Given the description of an element on the screen output the (x, y) to click on. 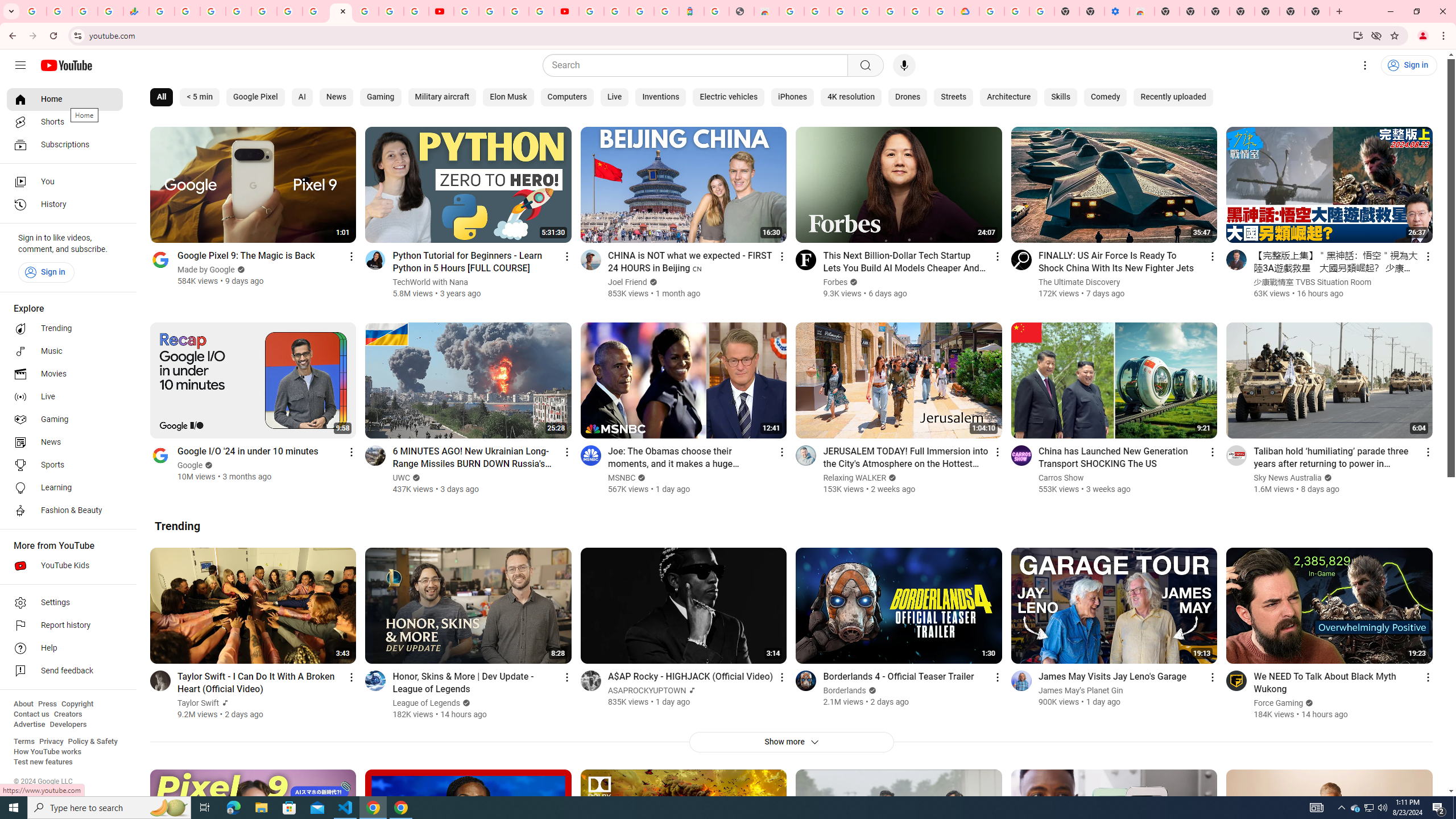
Google Pixel (255, 97)
Android TV Policies and Guidelines - Transparency Center (315, 11)
Privacy Checkup (415, 11)
Help (64, 648)
Gaming (380, 97)
ASAPROCKYUPTOWN (647, 690)
Create your Google Account (516, 11)
MSNBC (621, 477)
Sign in - Google Accounts (238, 11)
